Given the description of an element on the screen output the (x, y) to click on. 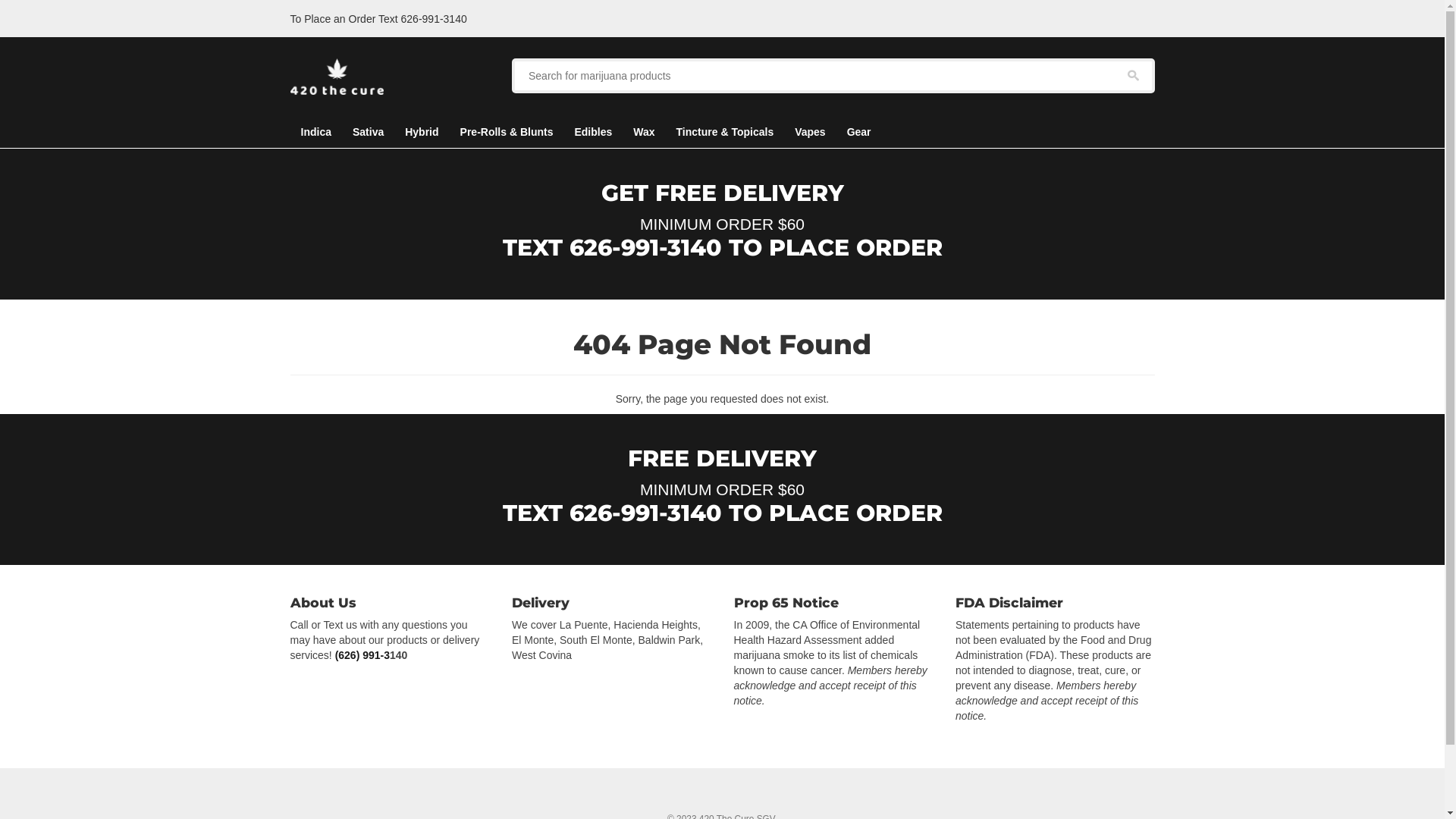
Wax Element type: text (643, 131)
Search for: Element type: hover (832, 75)
Pre-Rolls & Blunts Element type: text (506, 131)
Vapes Element type: text (809, 131)
Edibles Element type: text (592, 131)
Indica Element type: text (315, 131)
Tincture & Topicals Element type: text (724, 131)
Gear Element type: text (858, 131)
(626) 991-3 Element type: text (362, 655)
Sativa Element type: text (368, 131)
Hybrid Element type: text (421, 131)
